Given the description of an element on the screen output the (x, y) to click on. 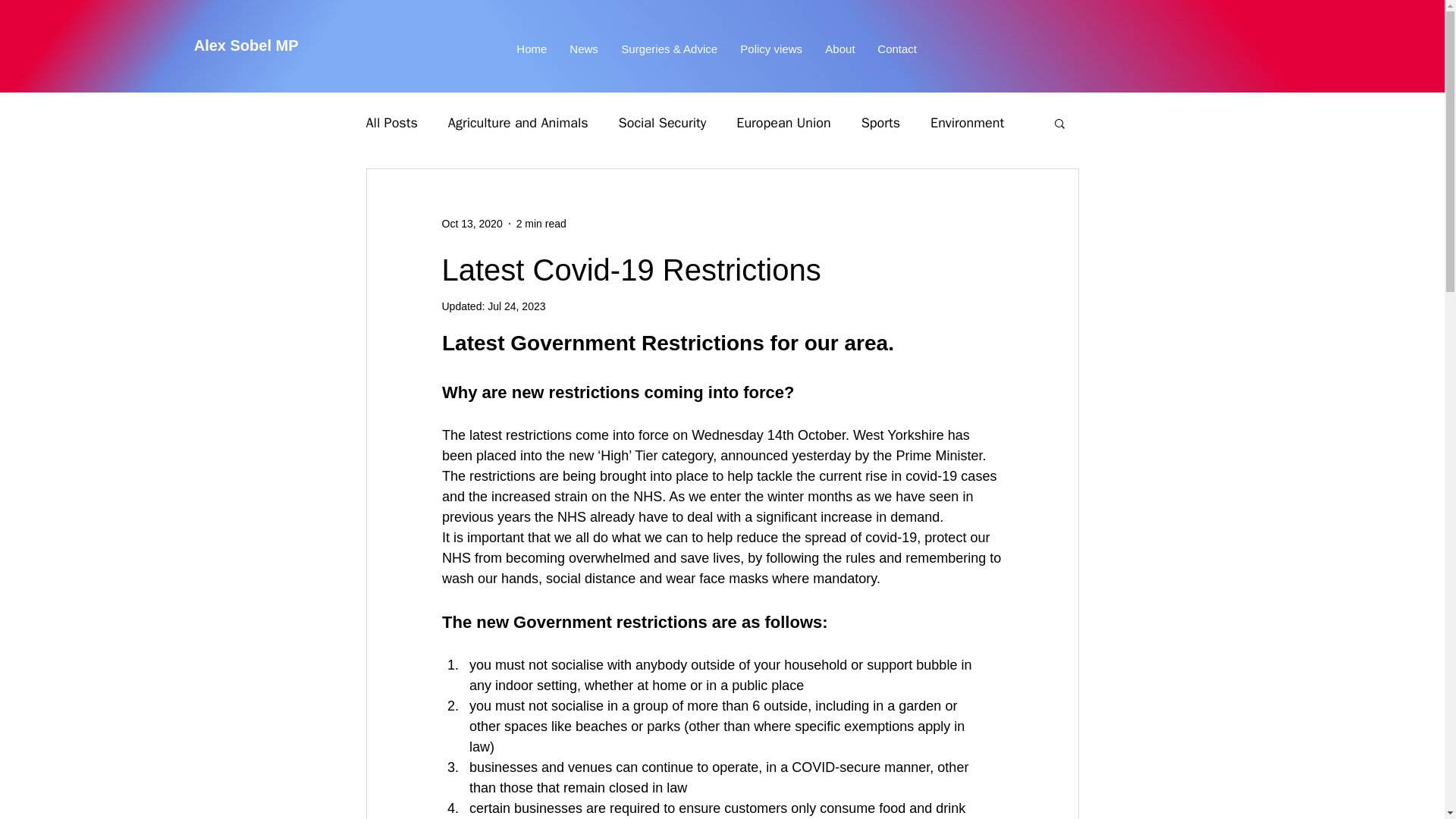
Home (531, 49)
Jul 24, 2023 (515, 306)
Contact (897, 49)
Sports (880, 122)
2 min read (541, 223)
Oct 13, 2020 (471, 223)
All Posts (390, 122)
European Union (782, 122)
Social Security (662, 122)
Agriculture and Animals (518, 122)
